Given the description of an element on the screen output the (x, y) to click on. 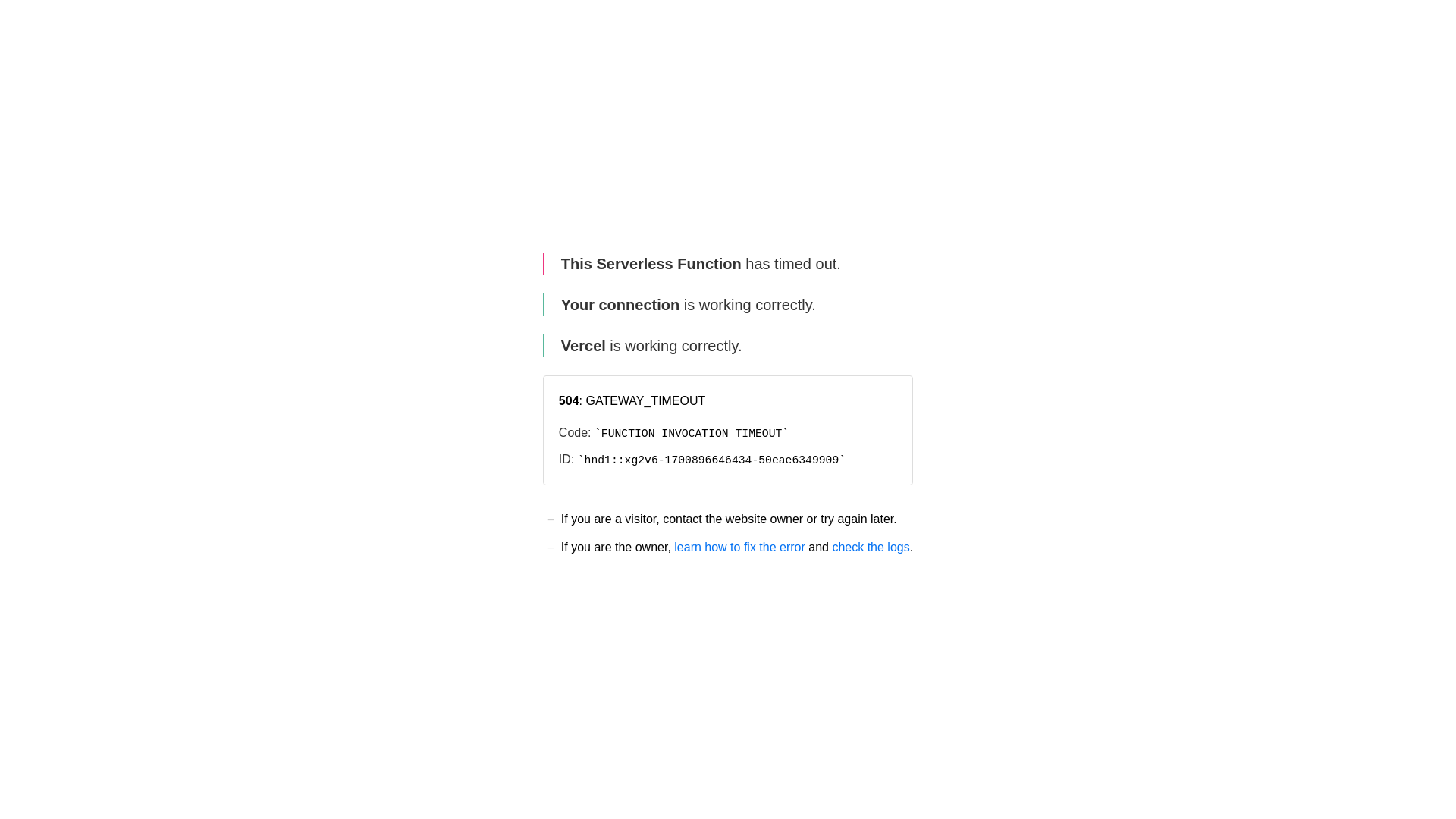
check the logs Element type: text (870, 547)
learn how to fix the error Element type: text (739, 547)
